Given the description of an element on the screen output the (x, y) to click on. 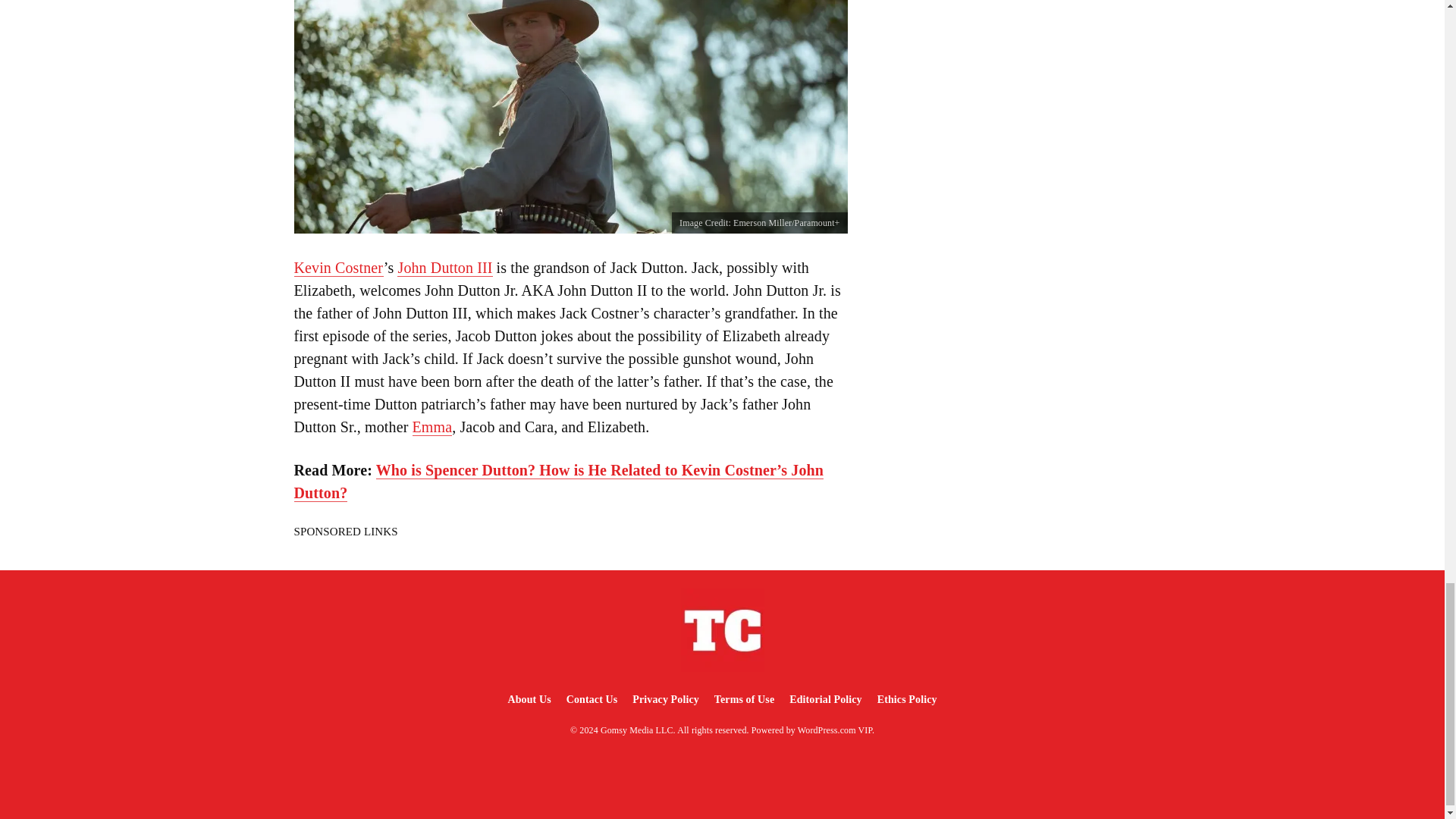
Contact Us (592, 699)
Editorial Policy (825, 699)
Emma (432, 426)
Privacy Policy (665, 699)
WordPress.com VIP (834, 729)
About Us (528, 699)
Ethics Policy (906, 699)
John Dutton III (444, 267)
Terms of Use (743, 699)
Kevin Costner (339, 267)
